Given the description of an element on the screen output the (x, y) to click on. 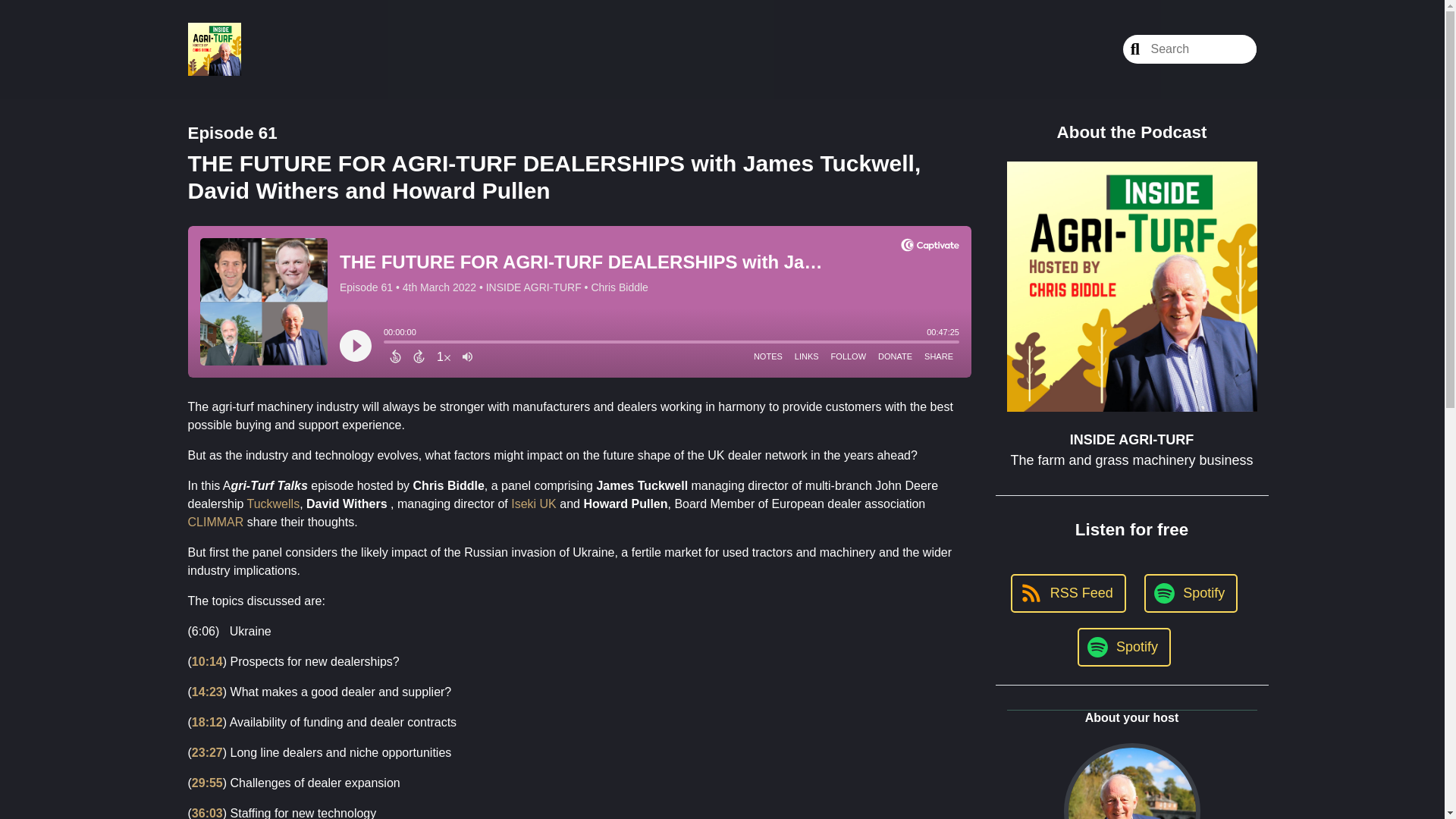
Tuckwells (272, 503)
Spotify (1190, 593)
23:27 (207, 752)
CLIMMAR (215, 521)
Spotify (1123, 647)
18:12 (207, 721)
Iseki UK (533, 503)
14:23 (207, 691)
29:55 (207, 782)
RSS Feed (1067, 593)
